Given the description of an element on the screen output the (x, y) to click on. 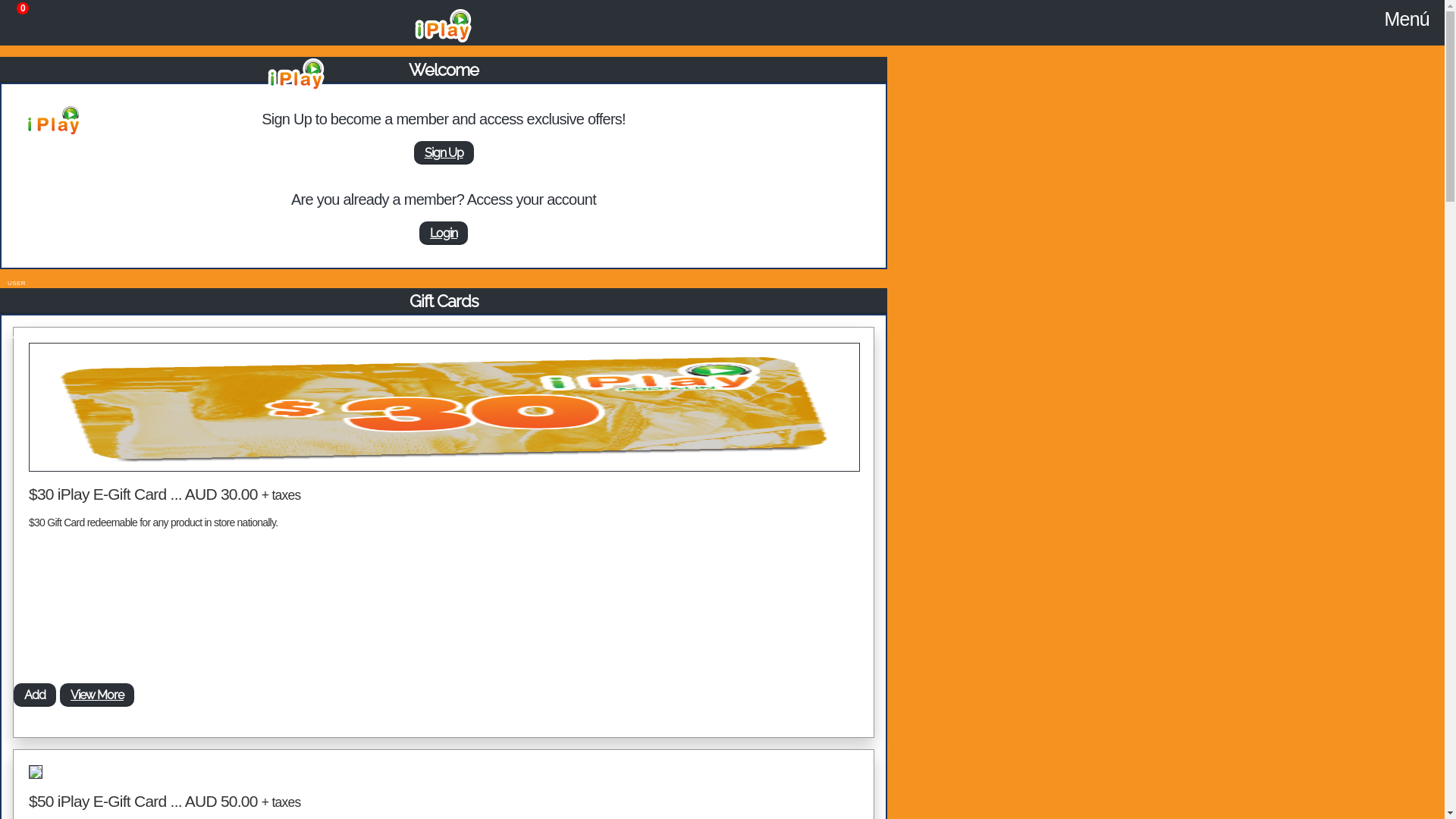
View More Element type: text (96, 694)
Add Element type: text (34, 694)
Sign Up Element type: text (443, 152)
Login Element type: text (443, 232)
